Given the description of an element on the screen output the (x, y) to click on. 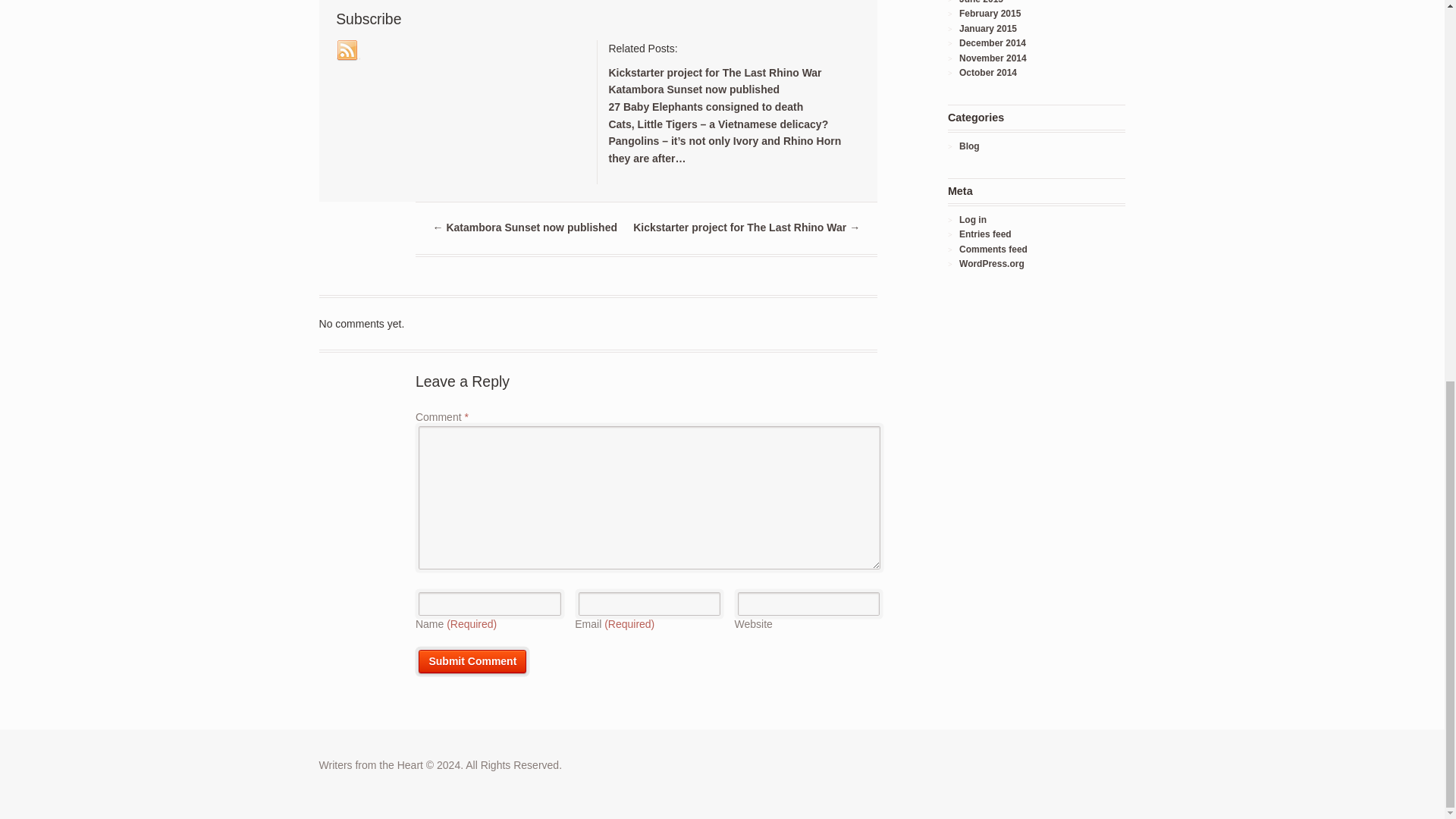
January 2015 (987, 28)
27 Baby Elephants consigned to death (705, 106)
February 2015 (989, 13)
Katambora Sunset now published (693, 89)
Katambora Sunset now published (693, 89)
RSS (347, 50)
Kickstarter project for The Last Rhino War (714, 72)
June 2015 (981, 2)
Submit Comment (472, 661)
Kickstarter project for The Last Rhino War (714, 72)
